Given the description of an element on the screen output the (x, y) to click on. 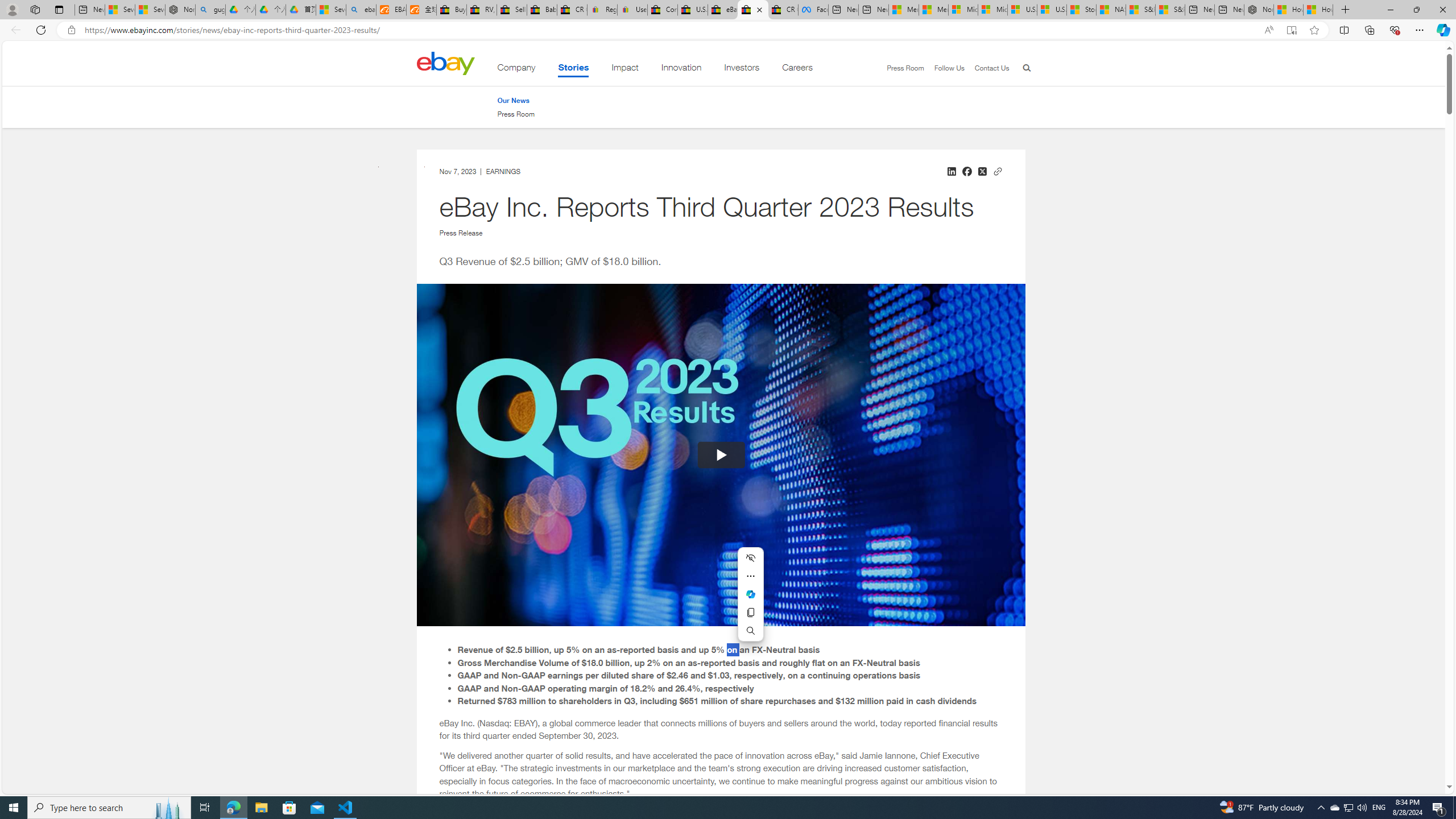
Share on LinkedIn (951, 171)
Press Room (515, 113)
Consumer Health Data Privacy Policy - eBay Inc. (662, 9)
Our News (515, 100)
Copy link to clipboard (997, 169)
